Given the description of an element on the screen output the (x, y) to click on. 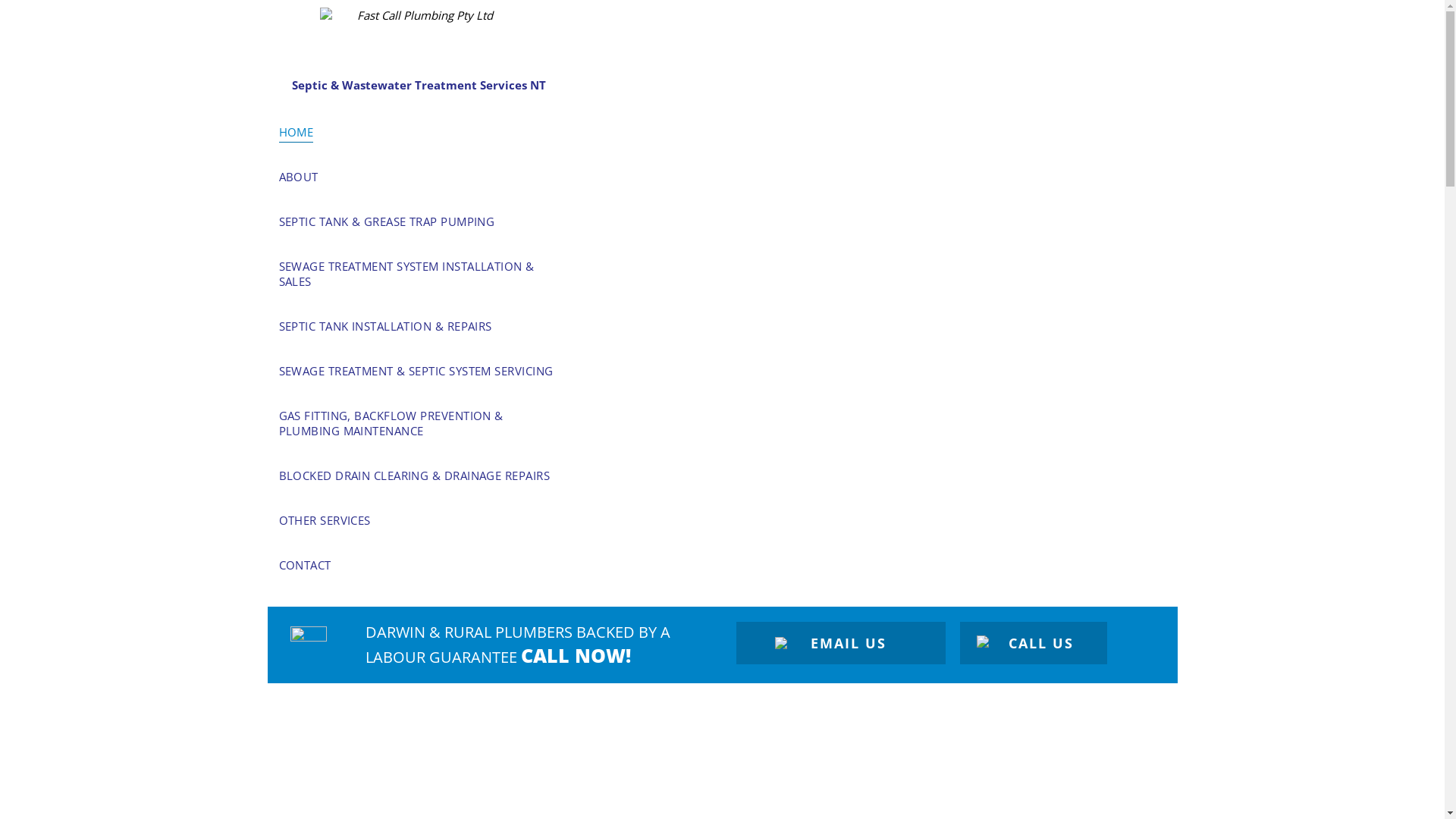
SEWAGE TREATMENT SYSTEM INSTALLATION & SALES Element type: text (419, 273)
EMAIL US Element type: text (840, 643)
HOME Element type: text (419, 131)
CALL NOW! Element type: text (575, 655)
SEPTIC TANK INSTALLATION & REPAIRS Element type: text (419, 325)
SEWAGE TREATMENT & SEPTIC SYSTEM SERVICING Element type: text (419, 370)
Fast Call Plumbing Pty Ltd Element type: hover (418, 38)
GAS FITTING, BACKFLOW PREVENTION & PLUMBING MAINTENANCE Element type: text (419, 422)
OTHER SERVICES Element type: text (419, 519)
CALL US Element type: text (1033, 643)
SEPTIC TANK & GREASE TRAP PUMPING Element type: text (419, 220)
BLOCKED DRAIN CLEARING & DRAINAGE REPAIRS Element type: text (419, 474)
CONTACT Element type: text (419, 564)
ABOUT Element type: text (419, 175)
